Given the description of an element on the screen output the (x, y) to click on. 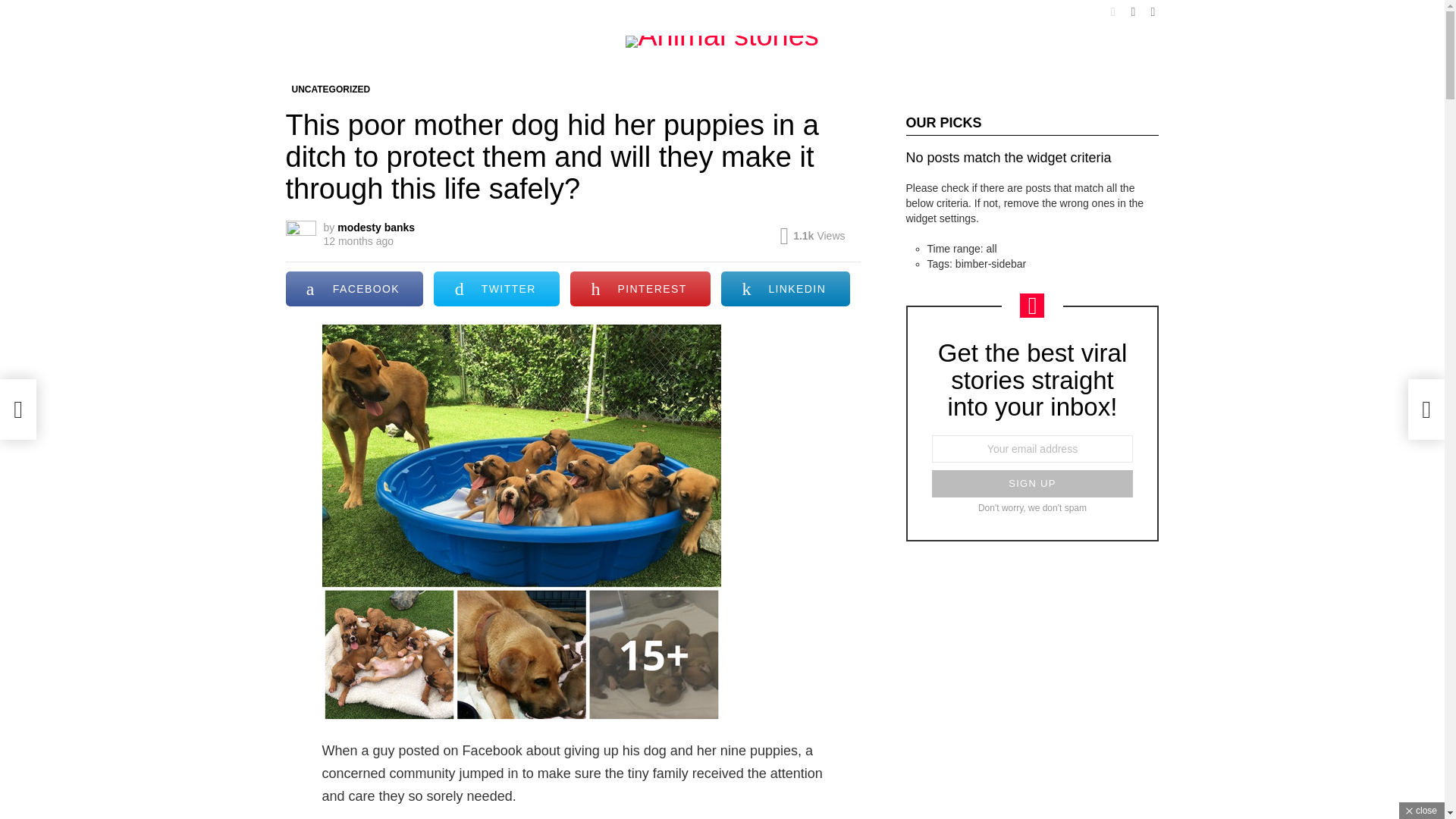
PINTEREST (640, 288)
SEARCH (1132, 12)
Posts by modesty banks (375, 227)
Share on Twitter (496, 288)
Share on Facebook (354, 288)
Share on Pinterest (640, 288)
Share on LinkedIn (784, 288)
LOGIN (1152, 12)
LINKEDIN (784, 288)
UNCATEGORIZED (330, 89)
modesty banks (375, 227)
July 27, 2023, 1:35 pm (358, 241)
Sign up (1031, 483)
FACEBOOK (354, 288)
SWITCH SKIN (1112, 12)
